Given the description of an element on the screen output the (x, y) to click on. 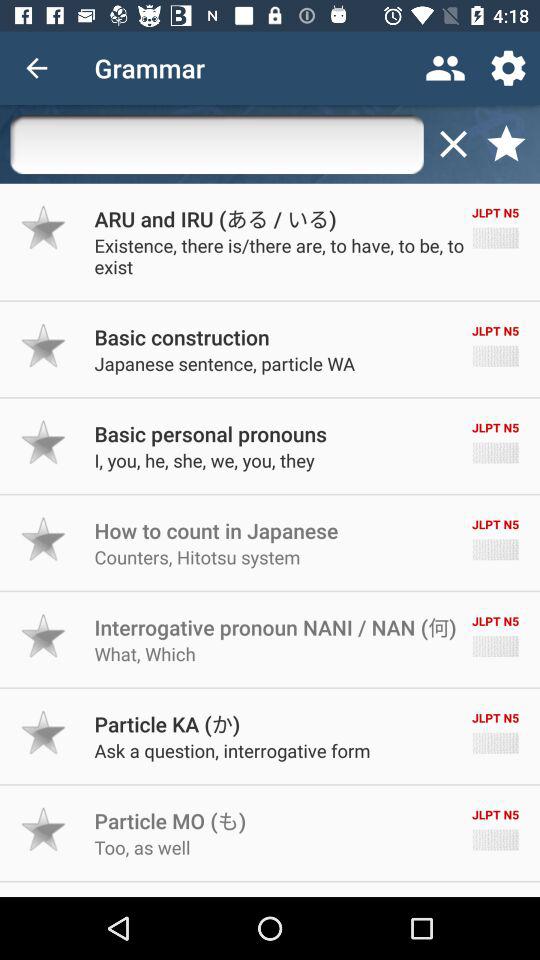
tap the icon to the left of the jlpt n5 item (215, 218)
